Given the description of an element on the screen output the (x, y) to click on. 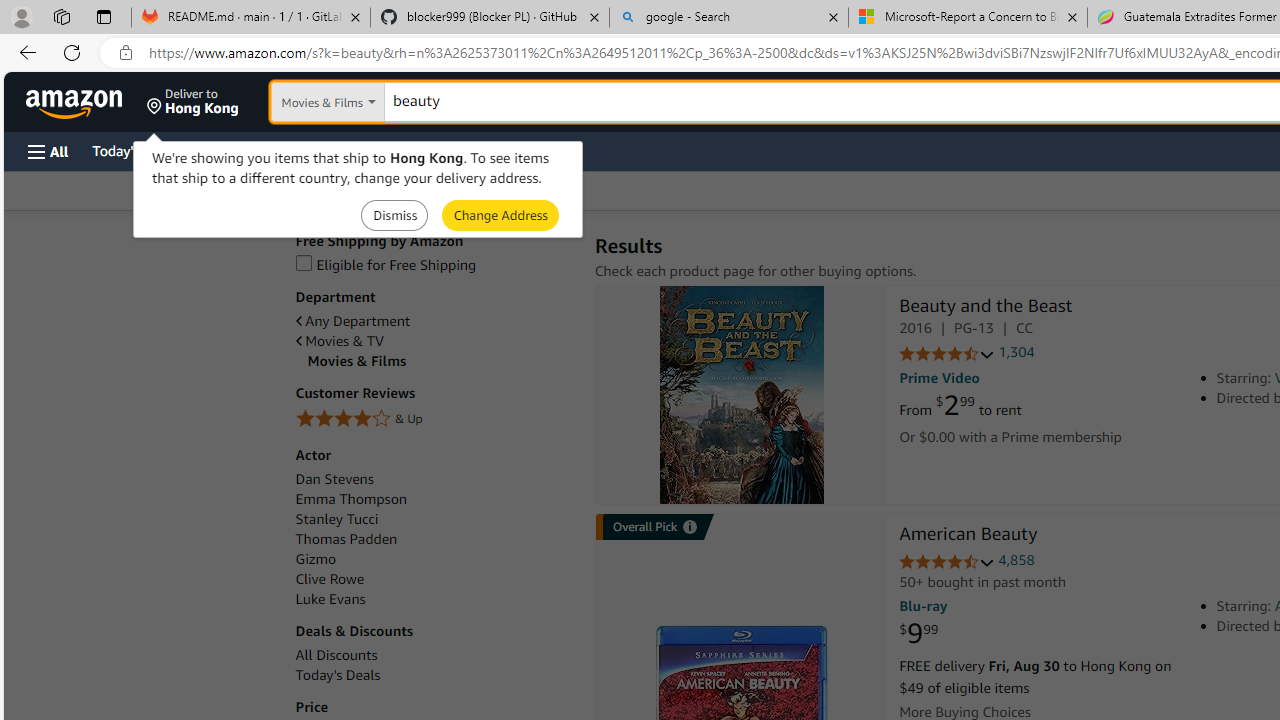
Luke Evans (330, 599)
1,304 (1016, 352)
From $2.99 to rent (959, 406)
Prime Video (939, 378)
Dan Stevens (434, 479)
$9.99 (918, 634)
Blu-ray (923, 606)
American Beauty (968, 535)
All Discounts (335, 655)
4 Stars & Up& Up (434, 420)
Search in (371, 102)
Stanley Tucci (336, 519)
4 Stars & Up (434, 419)
